Given the description of an element on the screen output the (x, y) to click on. 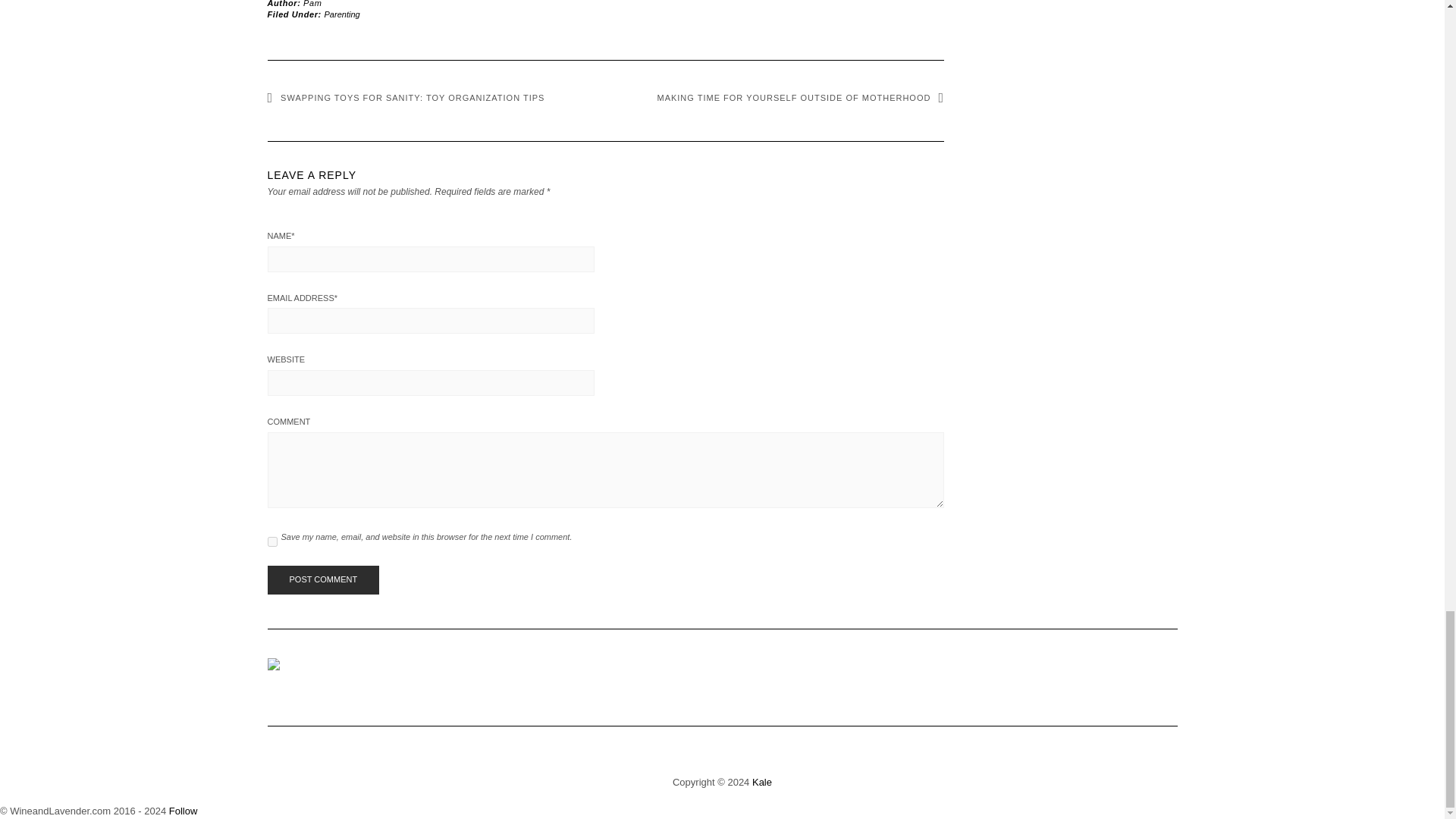
MAKING TIME FOR YOURSELF OUTSIDE OF MOTHERHOOD (799, 97)
Post Comment (322, 579)
Pam (311, 3)
yes (271, 542)
Parenting (341, 13)
Post Comment (322, 579)
Posts by Pam (311, 3)
SWAPPING TOYS FOR SANITY: TOY ORGANIZATION TIPS (405, 97)
